Given the description of an element on the screen output the (x, y) to click on. 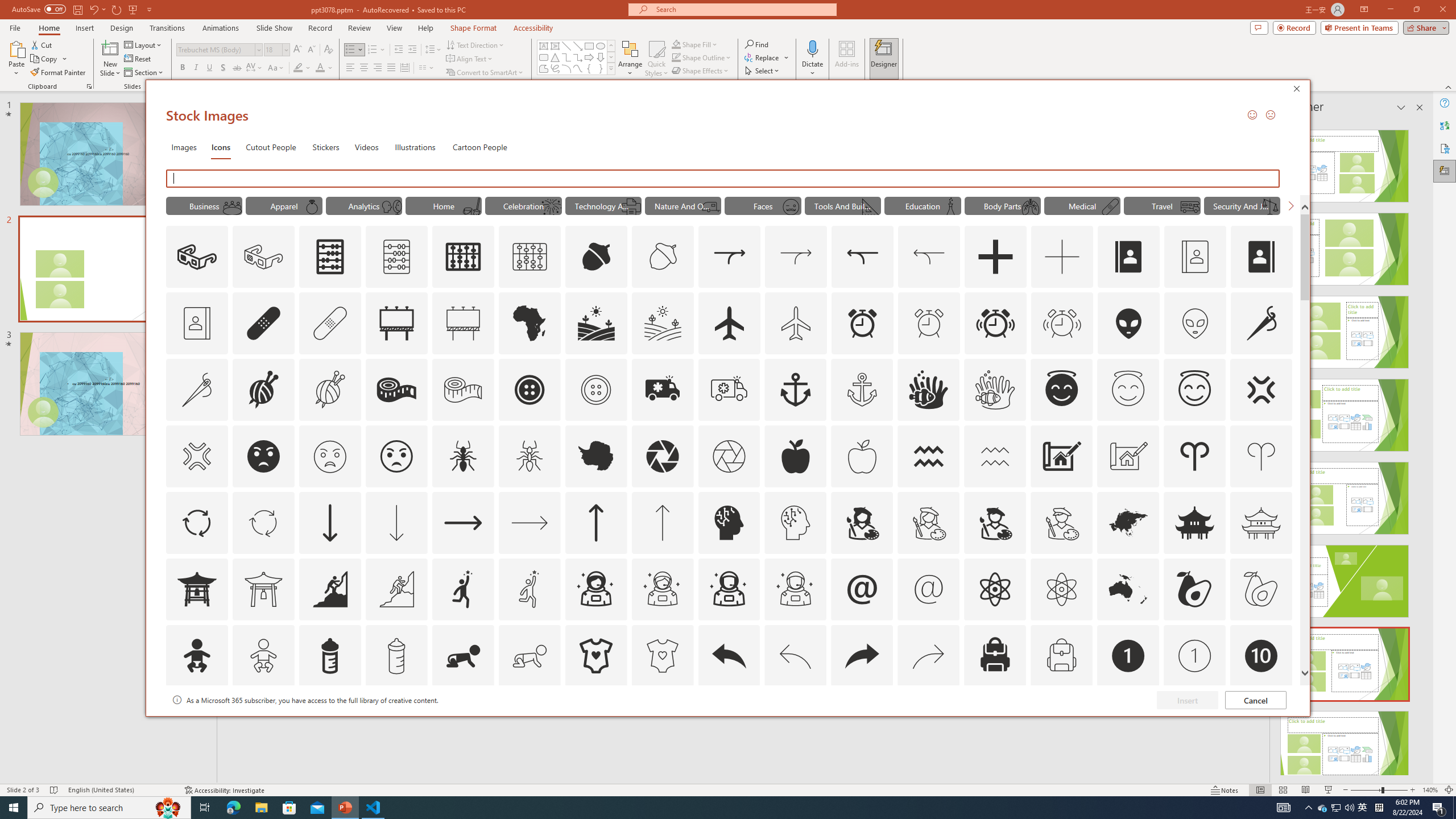
AutomationID: Icons_AlterationsTailoring2 (395, 389)
AutomationID: Icons_Badge8 (1061, 721)
AutomationID: Icons_Acquisition_RTL (863, 256)
AutomationID: Icons_AngryFace (263, 455)
"Analytics" Icons. (363, 205)
Italic (195, 67)
AutomationID: Icons_AlienFace (1128, 323)
AutomationID: Icons_Lungs_M (1030, 206)
